Given the description of an element on the screen output the (x, y) to click on. 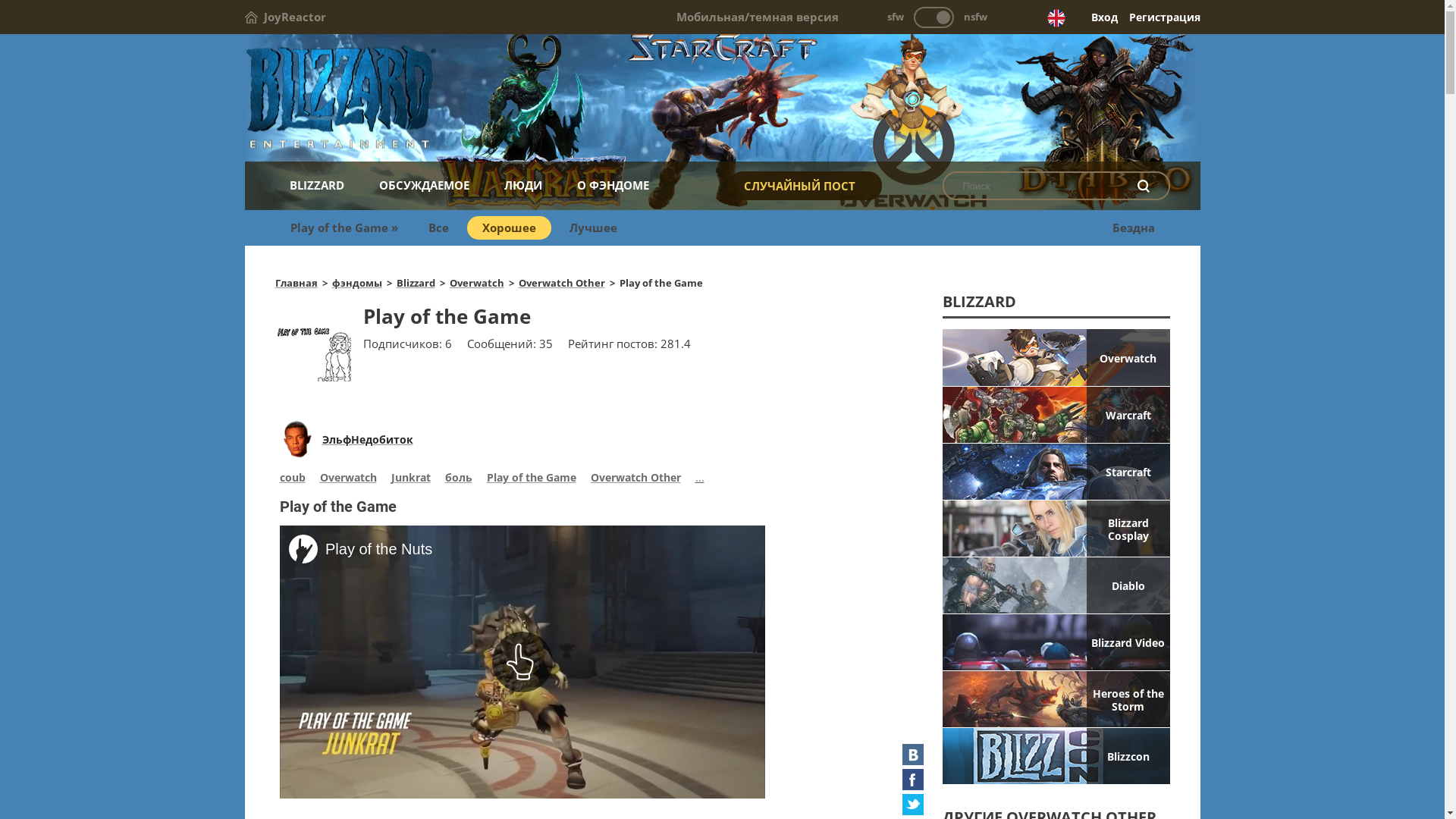
Blizzard Element type: text (721, 98)
Diablo Element type: text (1055, 585)
coub Element type: text (291, 479)
Blizzard Element type: text (414, 282)
Play of the Game Element type: text (531, 479)
JoyReactor Element type: text (284, 17)
Junkrat Element type: text (410, 479)
Starcraft Element type: text (1055, 471)
Overwatch Other Element type: text (634, 479)
English version Element type: hover (1055, 18)
Blizzard Cosplay Element type: text (1055, 528)
Overwatch Element type: text (348, 479)
Overwatch Element type: text (1055, 357)
Overwatch Other Element type: text (561, 282)
Blizzard Video Element type: text (1055, 642)
BLIZZARD Element type: text (315, 184)
Overwatch Element type: text (475, 282)
Blizzcon Element type: text (1055, 756)
Warcraft Element type: text (1055, 414)
Heroes of the Storm Element type: text (1055, 699)
